Given the description of an element on the screen output the (x, y) to click on. 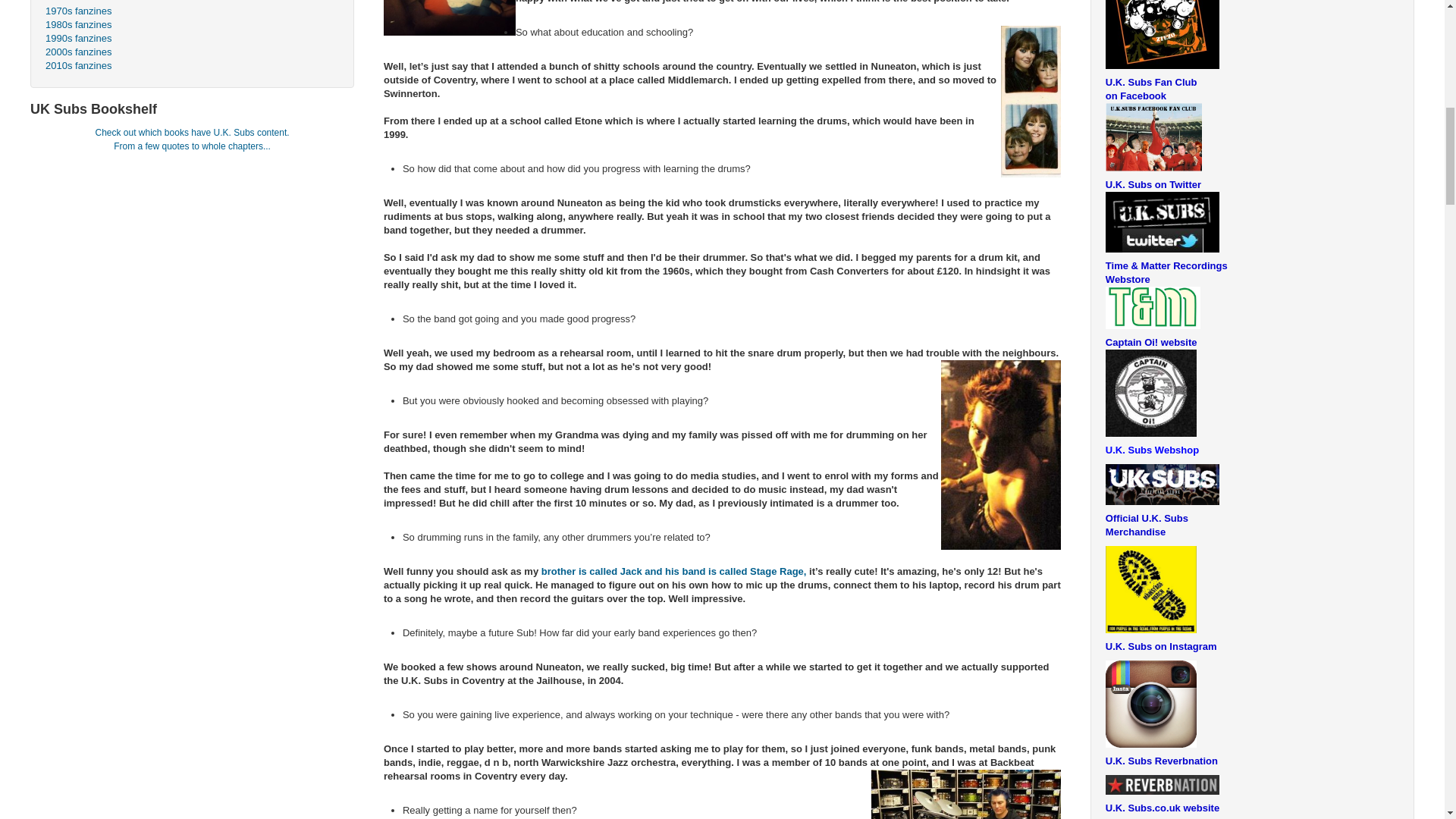
1970s fanzines (192, 11)
1990s fanzines (192, 38)
2000s fanzines (192, 51)
Jamie in heaven! Click   to enlarge (965, 794)
2010s fanzines (192, 65)
1980s fanzines (192, 24)
